Given the description of an element on the screen output the (x, y) to click on. 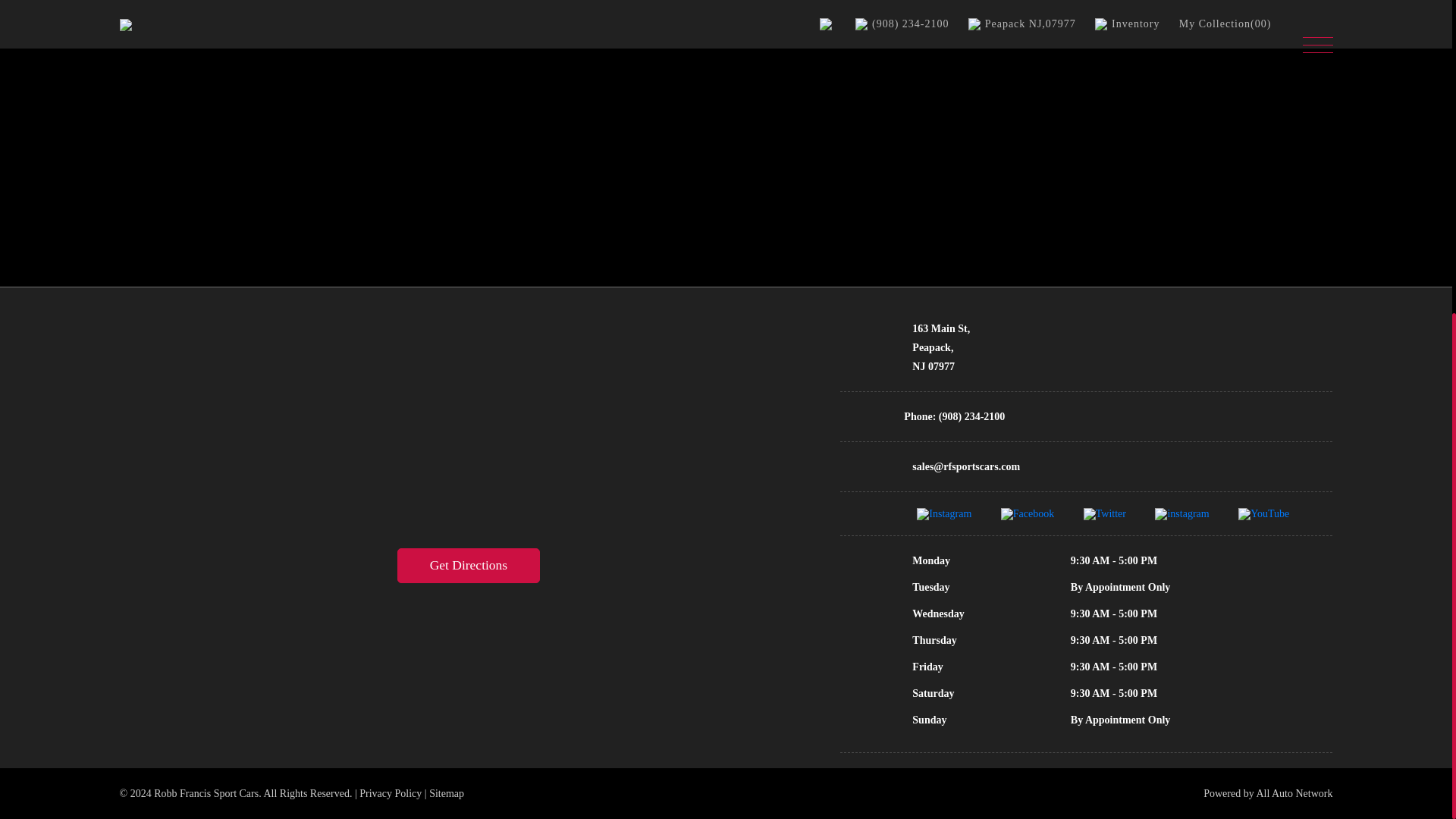
linkedin (1181, 512)
Inventory (567, 6)
instagram (944, 512)
Home (498, 6)
Financing (762, 6)
About Us (840, 6)
YouTube (1263, 512)
Sold Inventory (931, 6)
Twitter (1104, 512)
Saleen Inventory (664, 6)
